Given the description of an element on the screen output the (x, y) to click on. 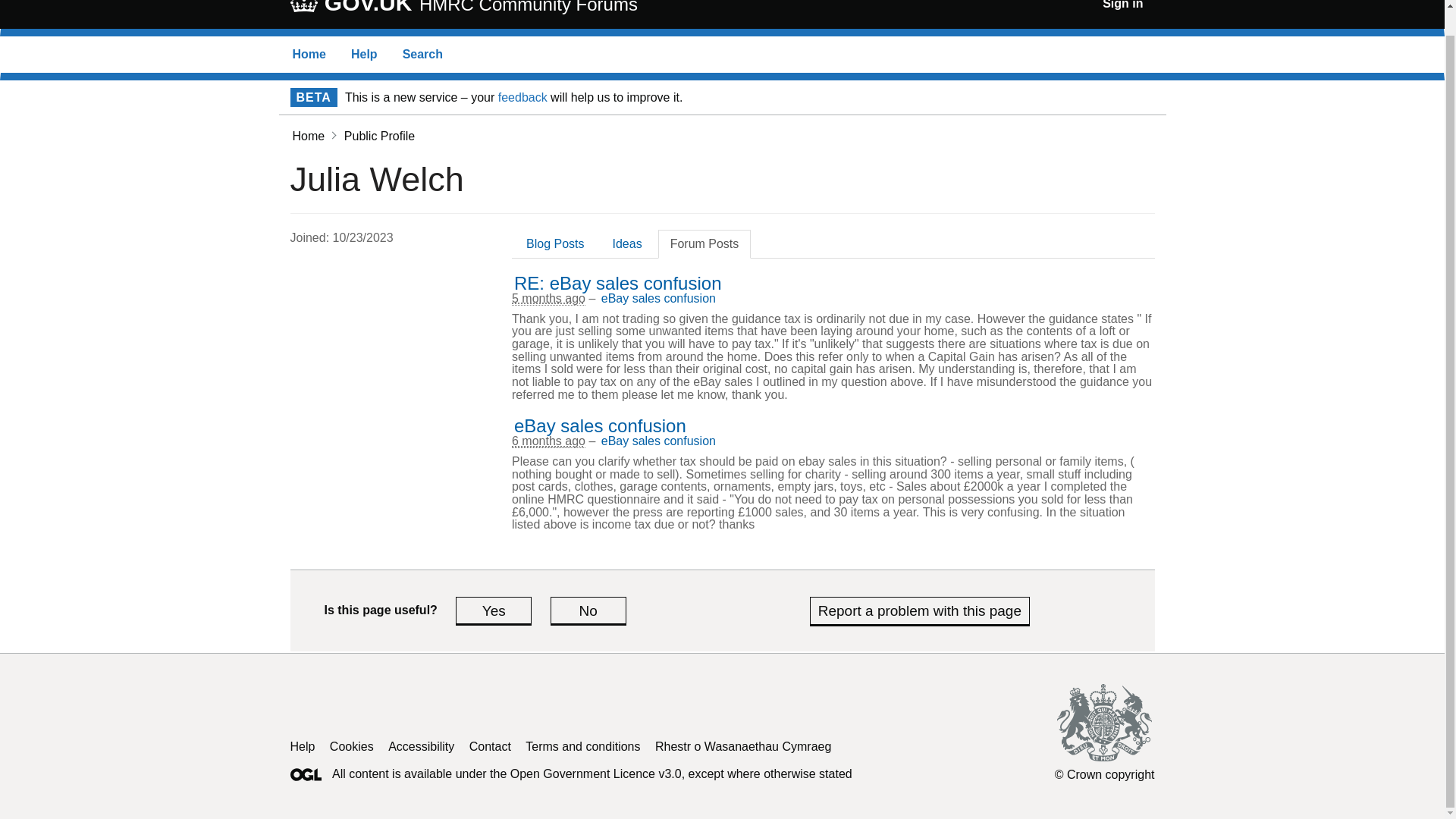
Home (588, 610)
Contact (309, 53)
RE: eBay sales confusion (489, 746)
eBay sales confusion (616, 282)
eBay sales confusion (658, 440)
Help (658, 297)
Cookies (363, 53)
GOV.UK (352, 746)
Search (351, 7)
Home (422, 53)
Sign in (308, 135)
Ideas (1122, 4)
Terms and conditions (626, 243)
eBay sales confusion (582, 746)
